Given the description of an element on the screen output the (x, y) to click on. 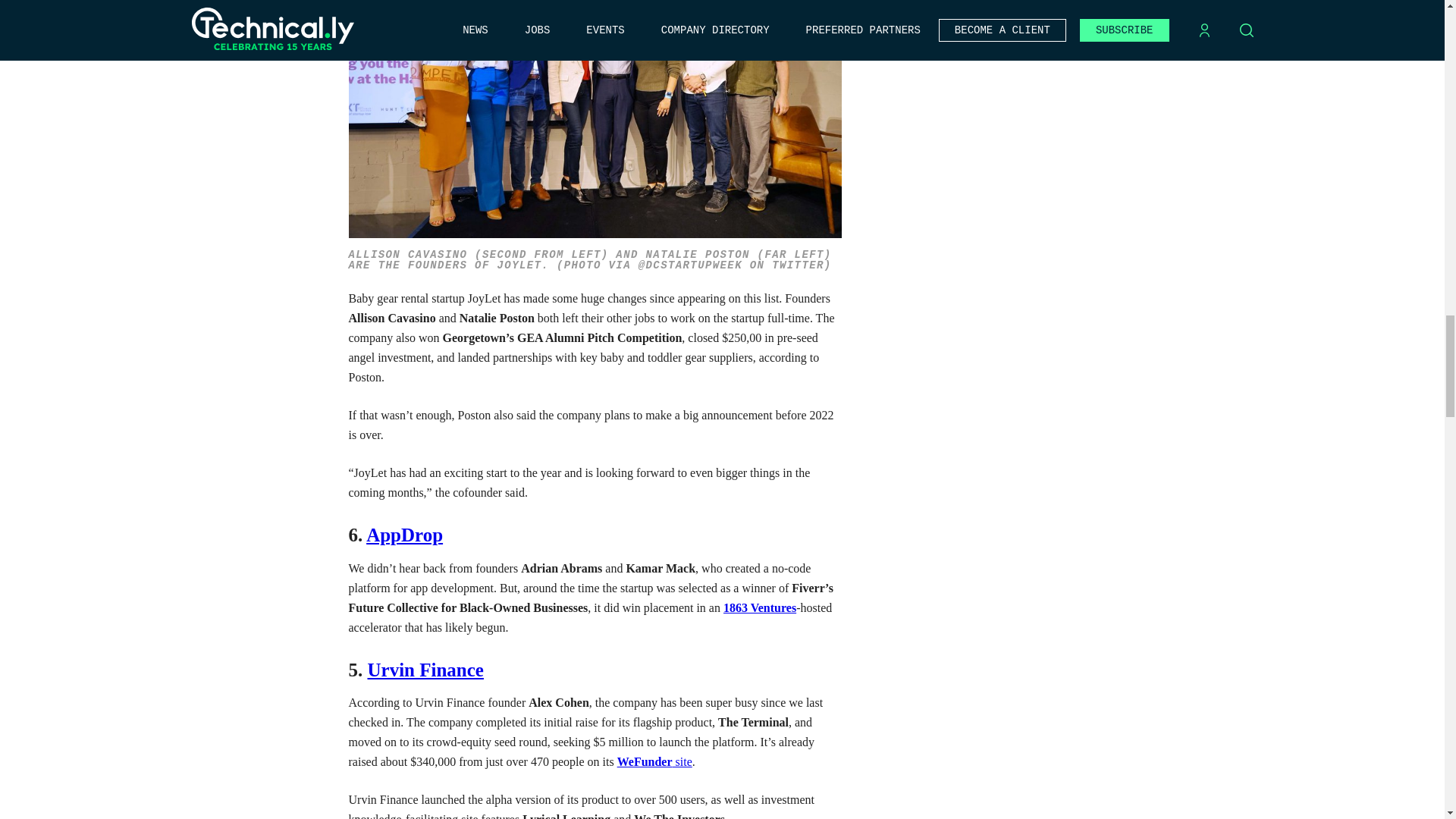
1863 Ventures (759, 607)
AppDrop (404, 534)
WeFunder site (655, 761)
Urvin Finance (424, 670)
